Given the description of an element on the screen output the (x, y) to click on. 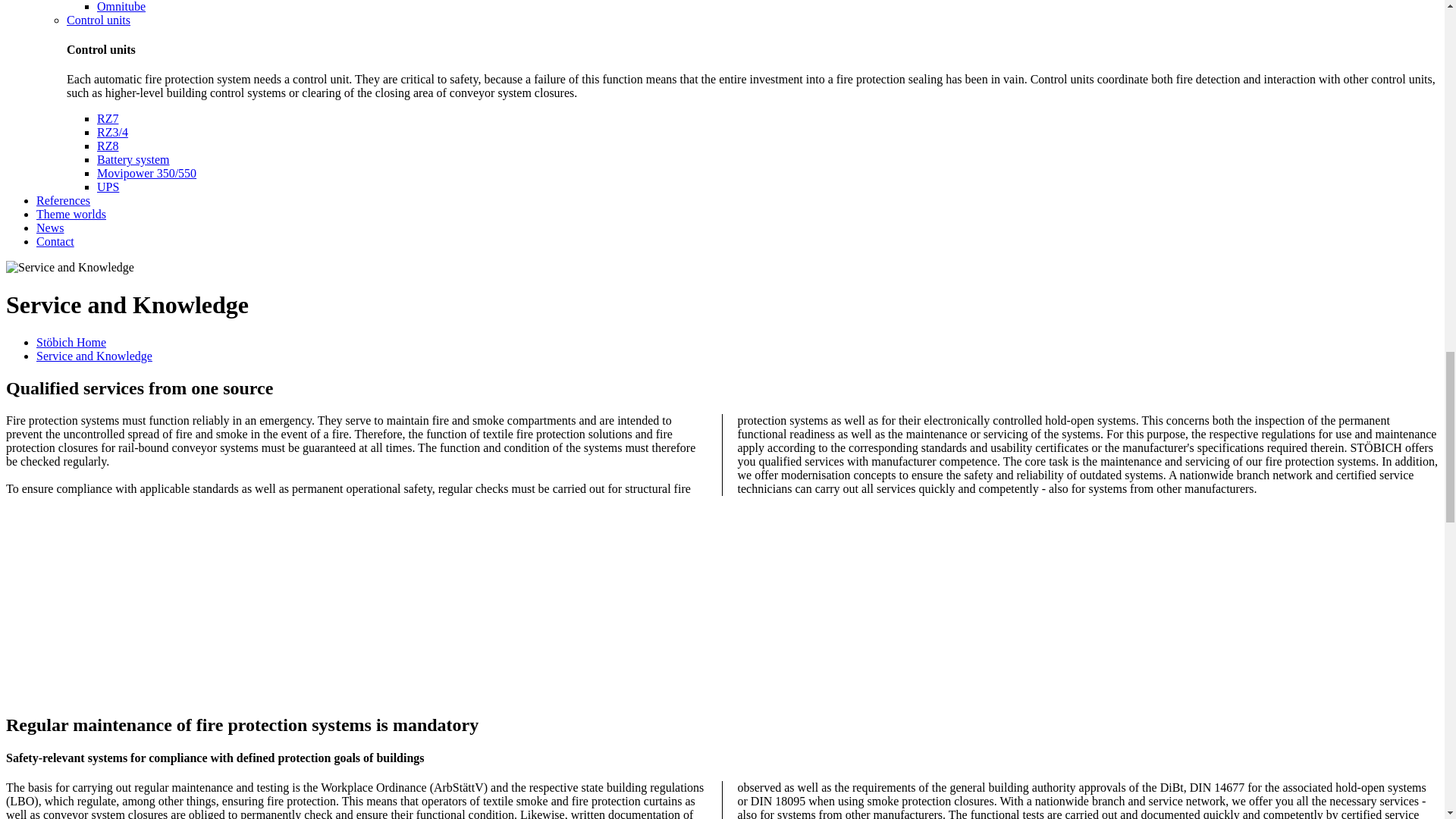
Service and Knowledge (69, 267)
